Given the description of an element on the screen output the (x, y) to click on. 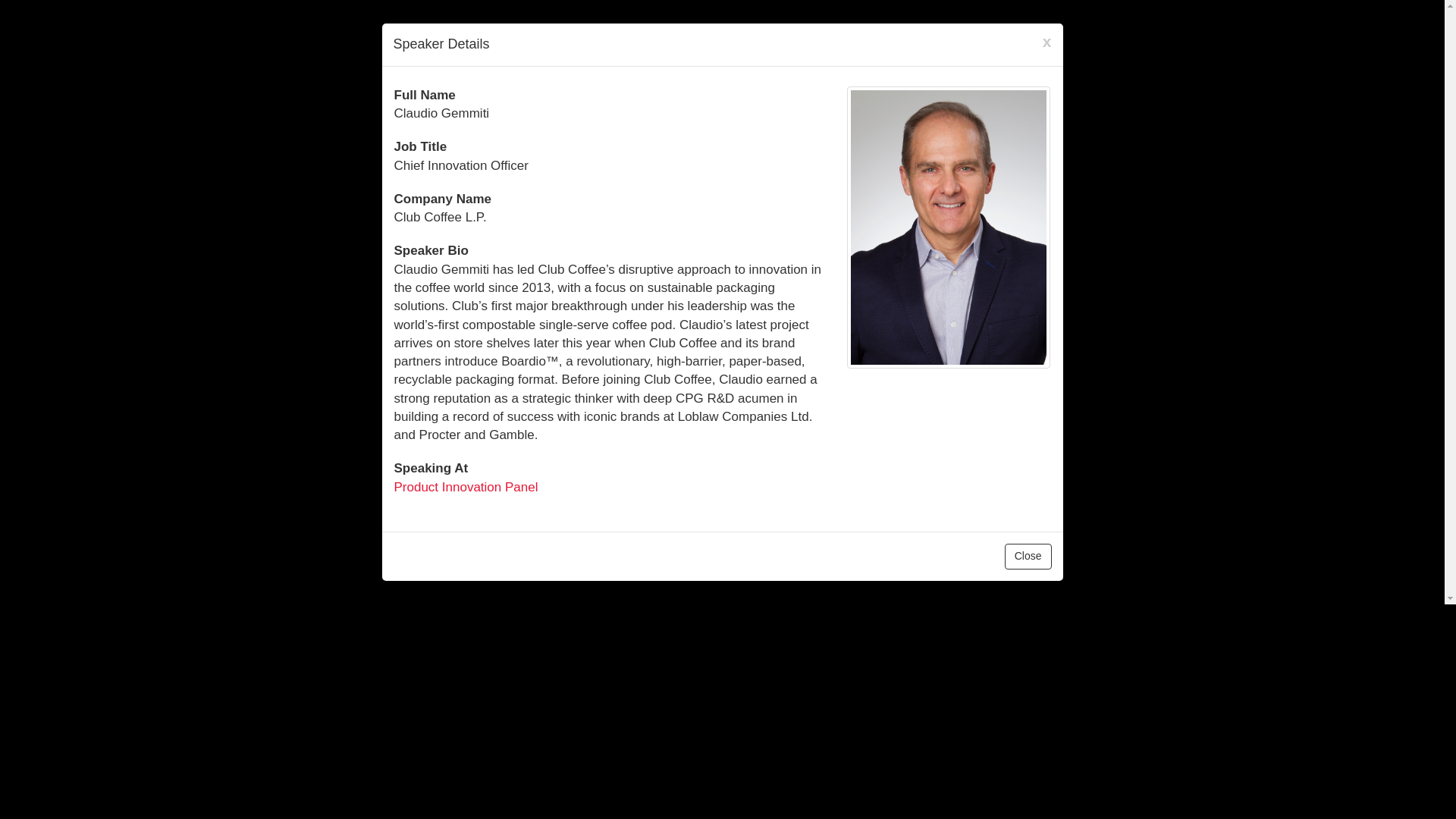
Product Innovation Panel (466, 486)
Close (1027, 556)
Session Details (466, 486)
